Given the description of an element on the screen output the (x, y) to click on. 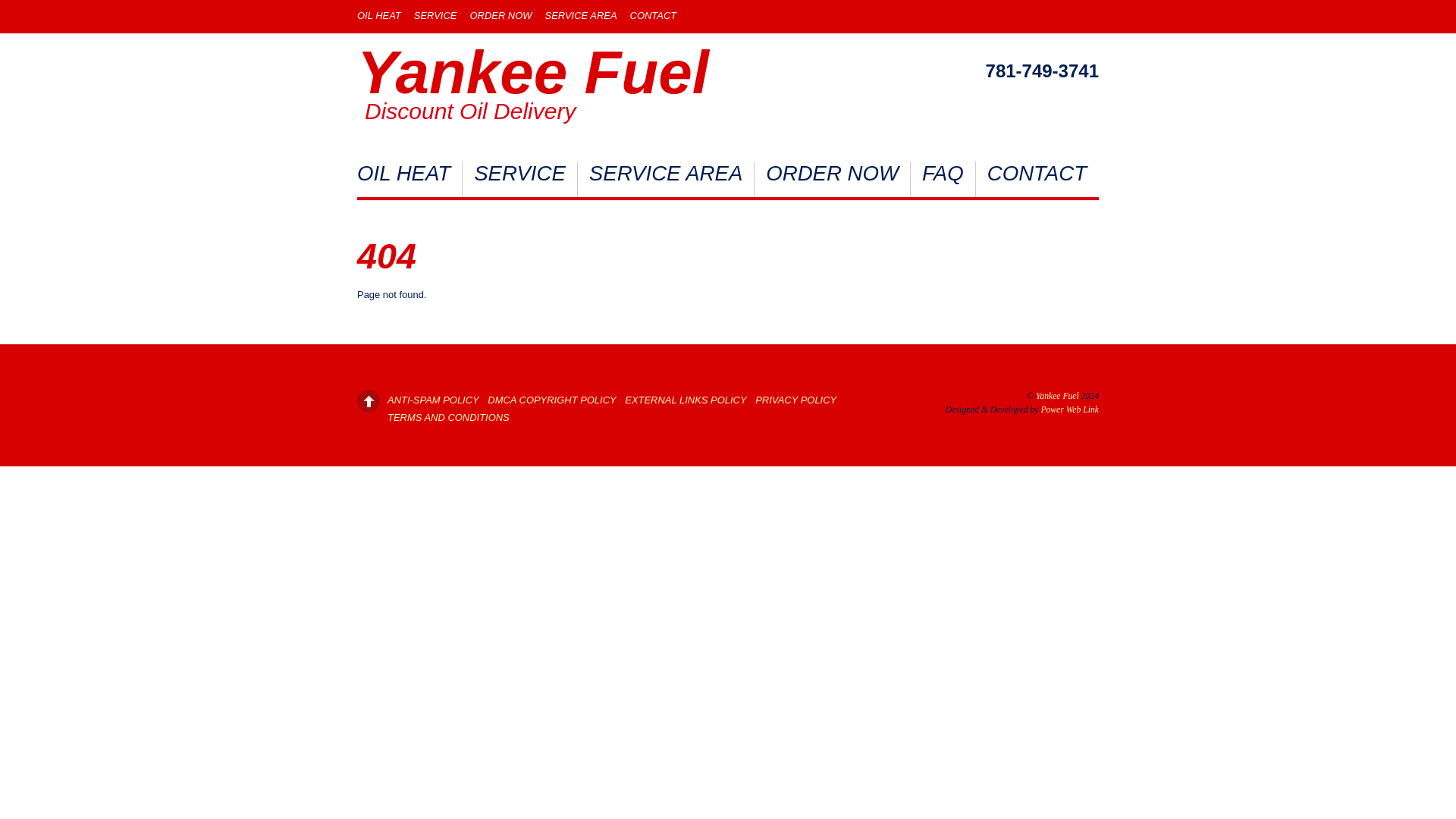
TERMS AND CONDITIONS (448, 417)
OIL HEAT (409, 179)
CONTACT (1036, 179)
ORDER NOW (832, 179)
Yankee Fuel (1056, 396)
PRIVACY POLICY (795, 399)
FAQ (943, 179)
ORDER NOW (499, 15)
Yankee Fuel (532, 72)
SERVICE AREA (580, 15)
